Given the description of an element on the screen output the (x, y) to click on. 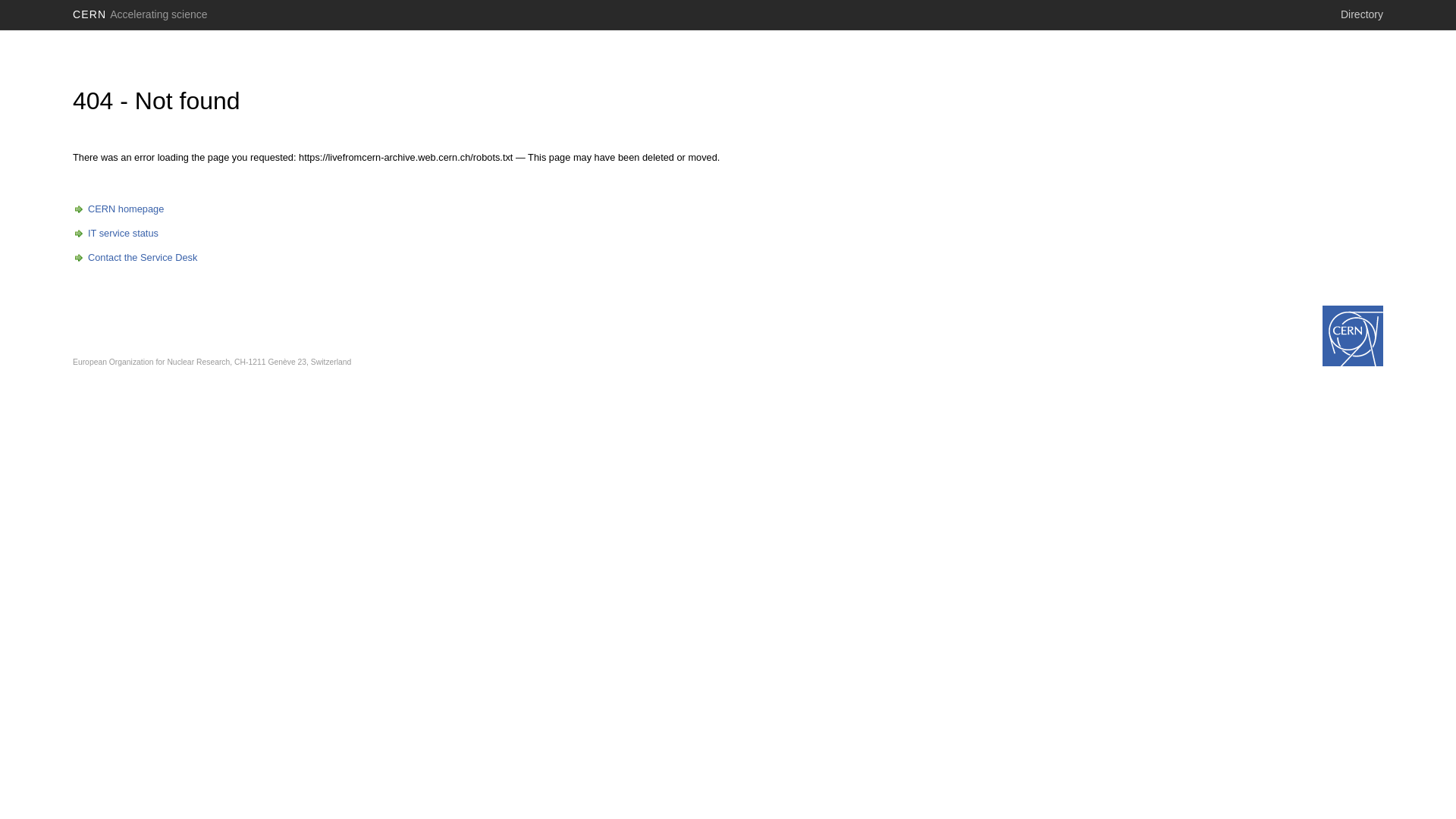
CERN Accelerating science Element type: text (139, 14)
CERN homepage Element type: text (117, 208)
Contact the Service Desk Element type: text (134, 257)
home.cern Element type: hover (1352, 335)
IT service status Element type: text (115, 232)
Directory Element type: text (1361, 14)
